Given the description of an element on the screen output the (x, y) to click on. 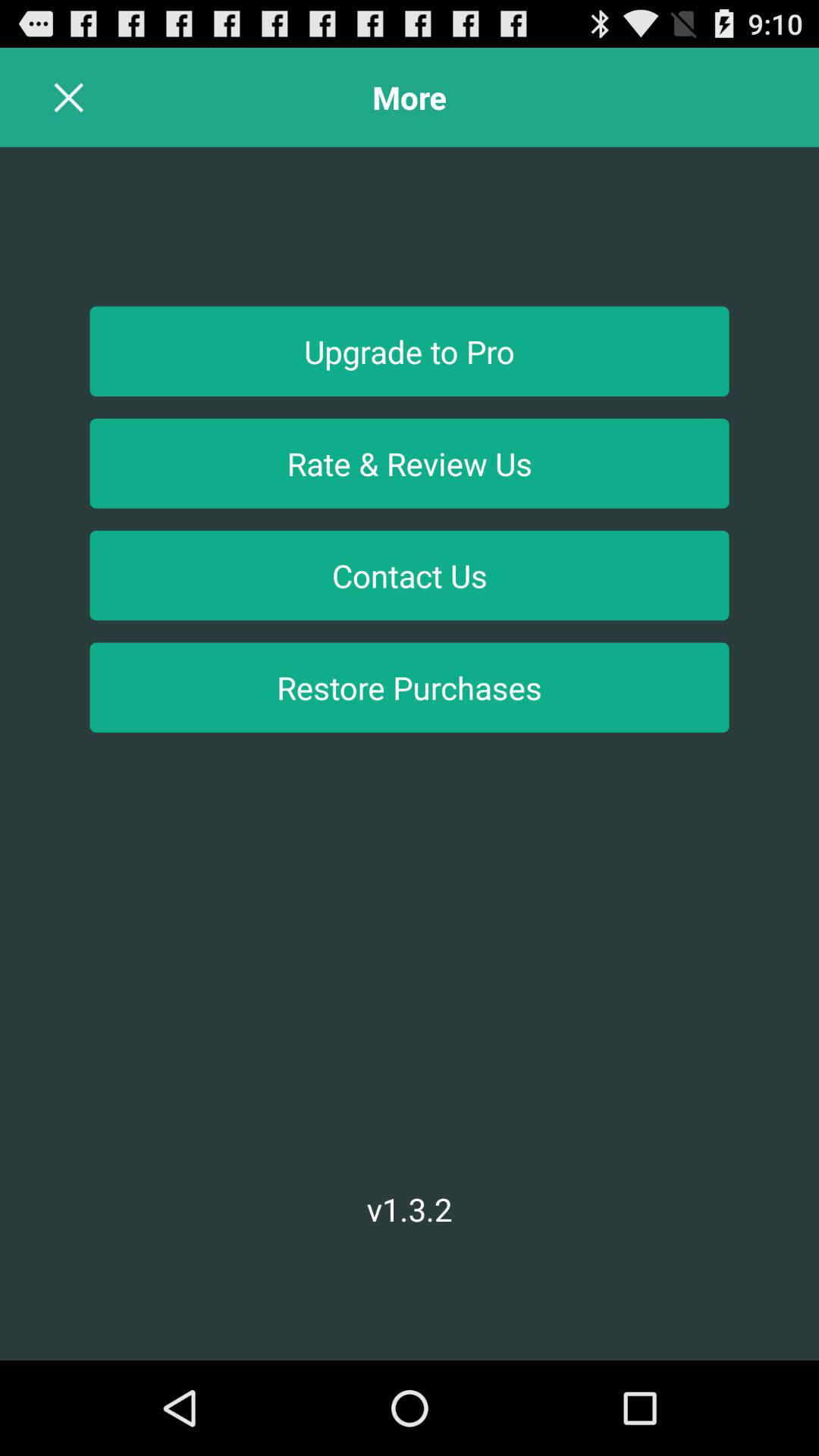
open the button below the upgrade to pro icon (409, 463)
